Given the description of an element on the screen output the (x, y) to click on. 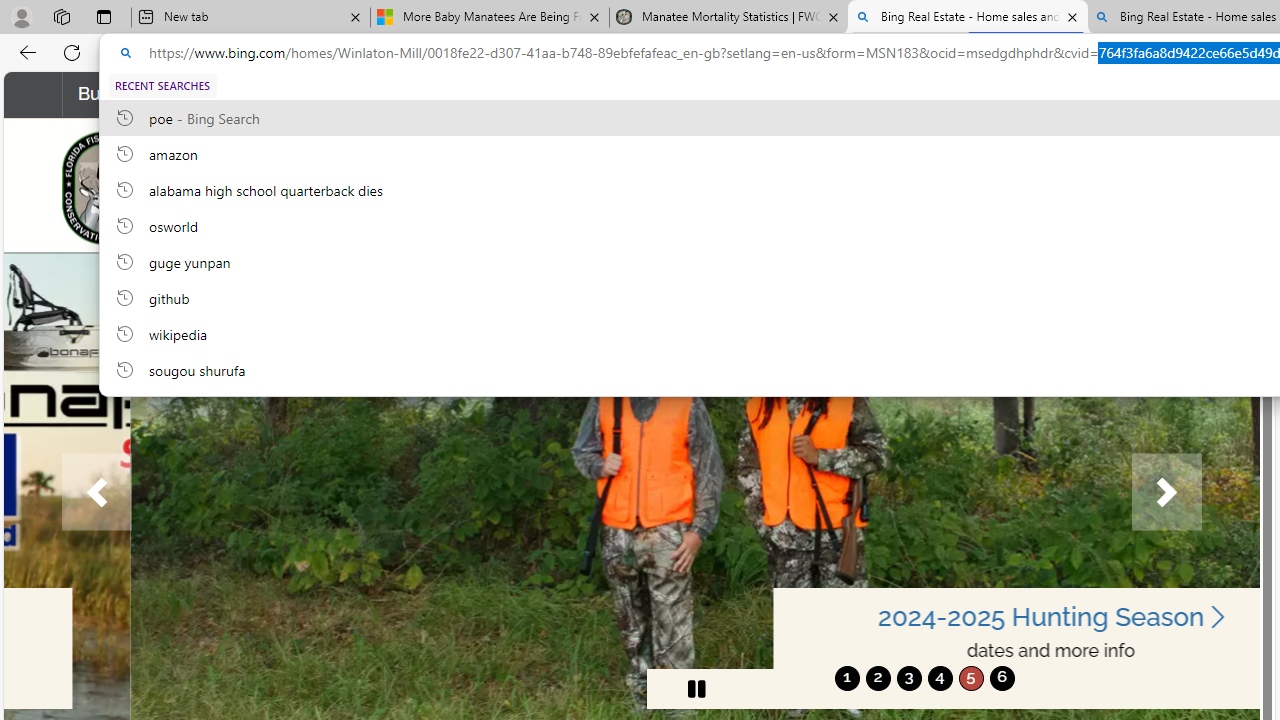
2 (877, 678)
move to slide 3 (908, 678)
About Us (1139, 94)
Things To Do (841, 94)
Buy and Apply (146, 94)
Things To Do (841, 94)
1 (847, 678)
move to slide 2 (877, 678)
Engaging in Conservation (632, 94)
2024-2025 Hunting Season  (924, 616)
Places To Go (997, 94)
